Given the description of an element on the screen output the (x, y) to click on. 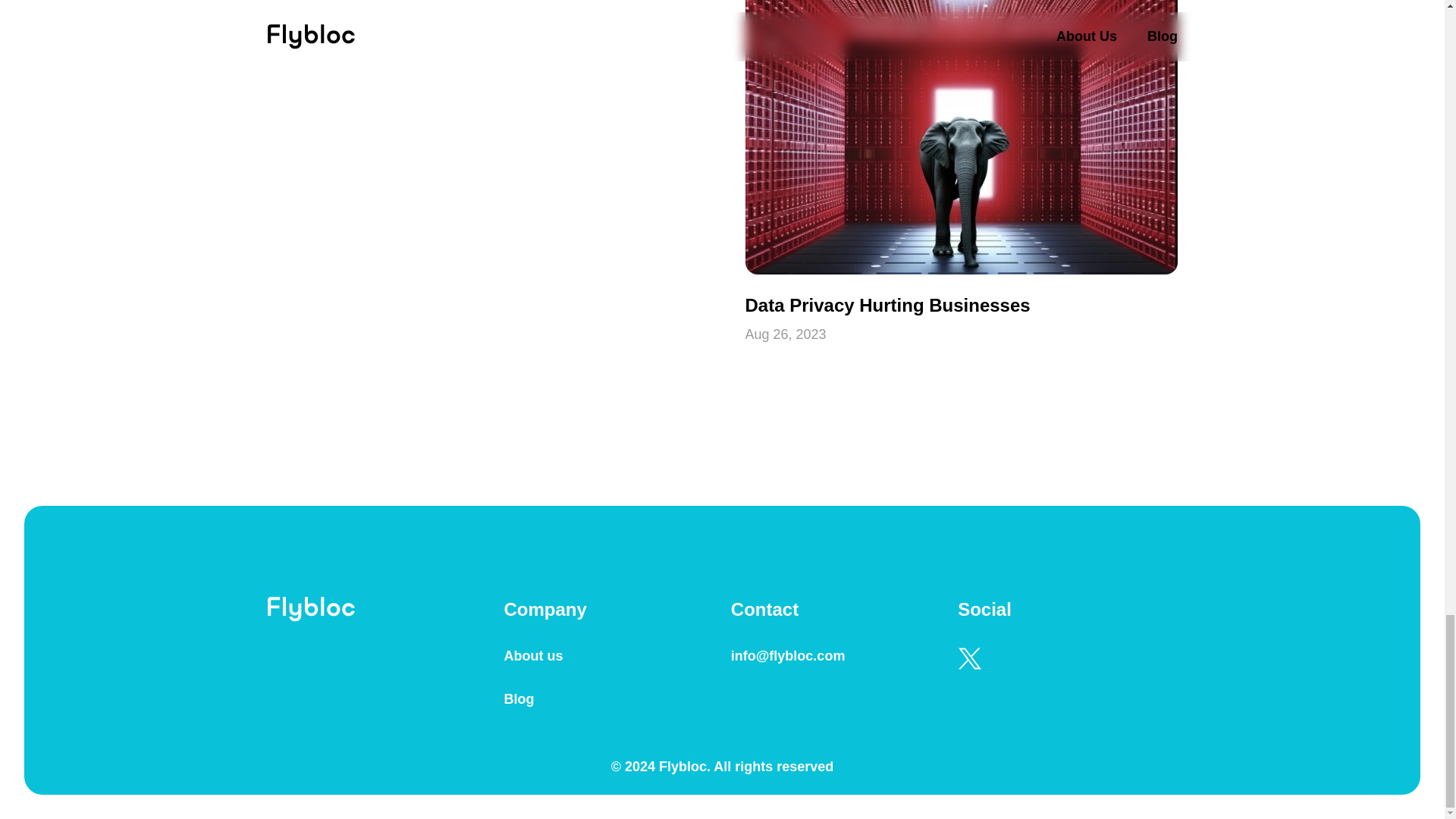
About us (532, 654)
Blog (518, 698)
